Given the description of an element on the screen output the (x, y) to click on. 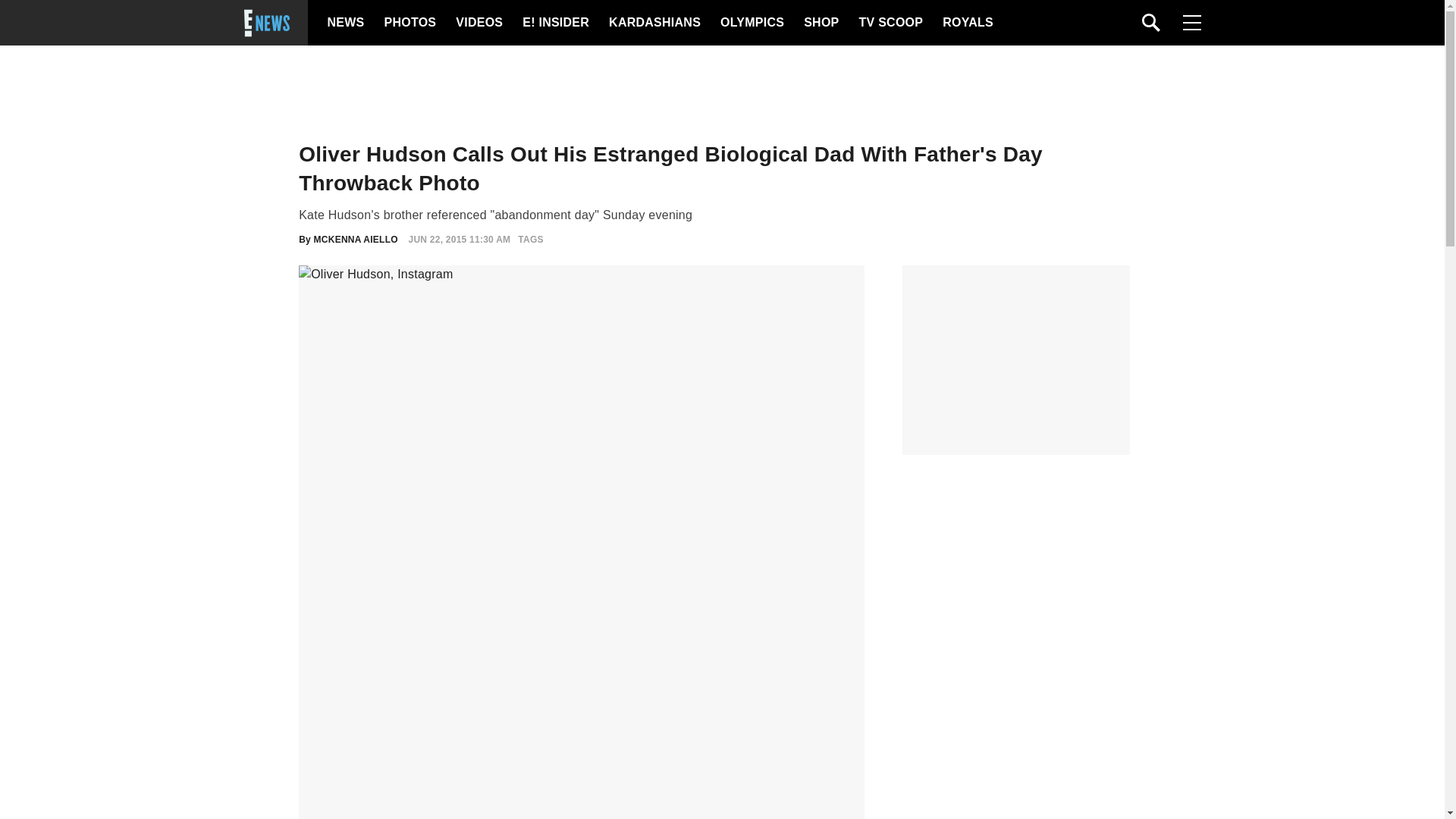
MCKENNA AIELLO (355, 239)
VIDEOS (478, 22)
NEWS (345, 22)
ROYALS (966, 22)
TV SCOOP (890, 22)
E! INSIDER (555, 22)
SHOP (820, 22)
PHOTOS (408, 22)
KARDASHIANS (653, 22)
OLYMPICS (751, 22)
